Given the description of an element on the screen output the (x, y) to click on. 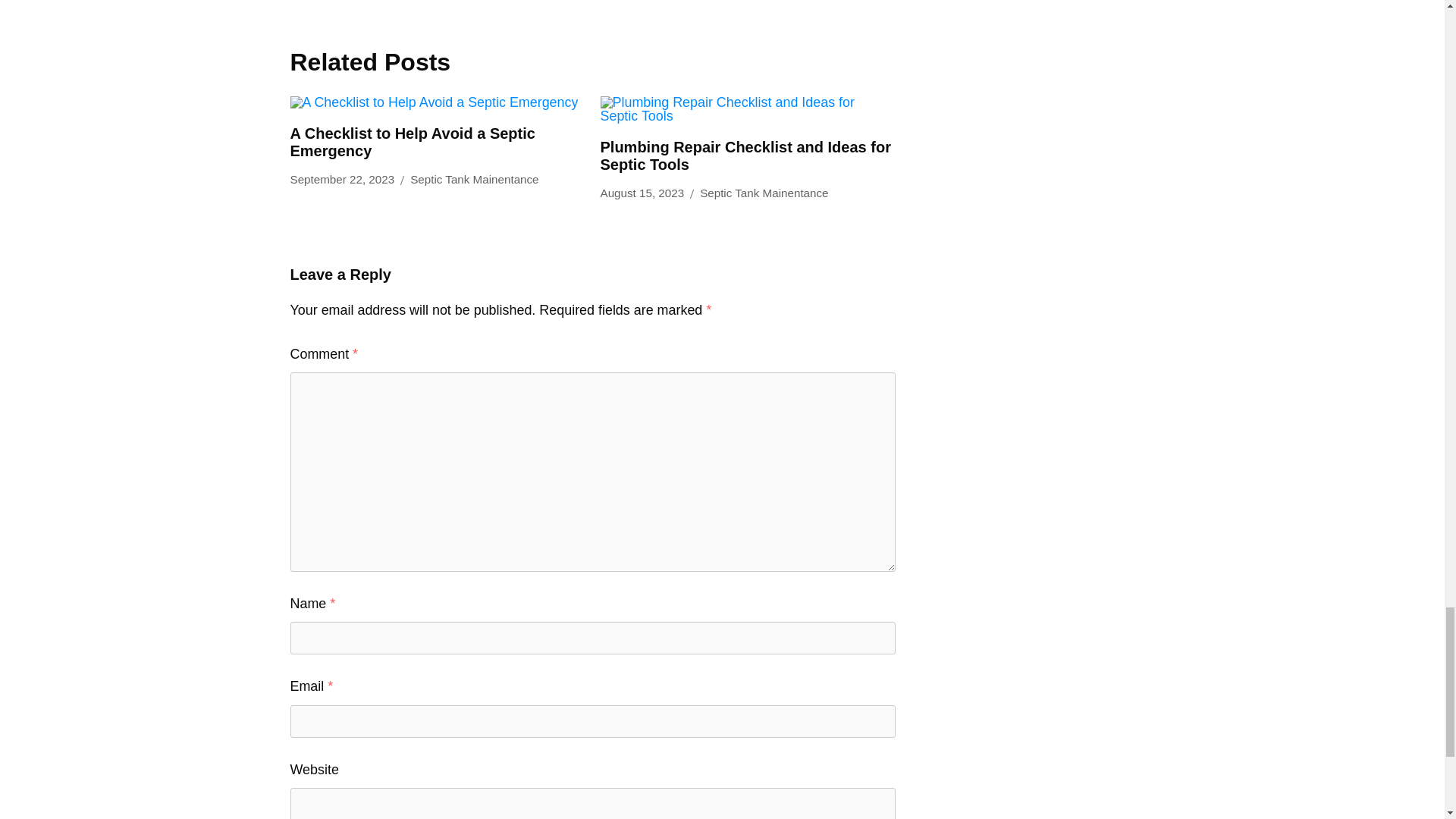
September 22, 2023 (341, 179)
Septic Tank Mainentance (474, 179)
August 15, 2023 (641, 193)
Plumbing Repair Checklist and Ideas for Septic Tools (745, 155)
A Checklist to Help Avoid a Septic Emergency (411, 141)
Septic Tank Mainentance (764, 193)
